Given the description of an element on the screen output the (x, y) to click on. 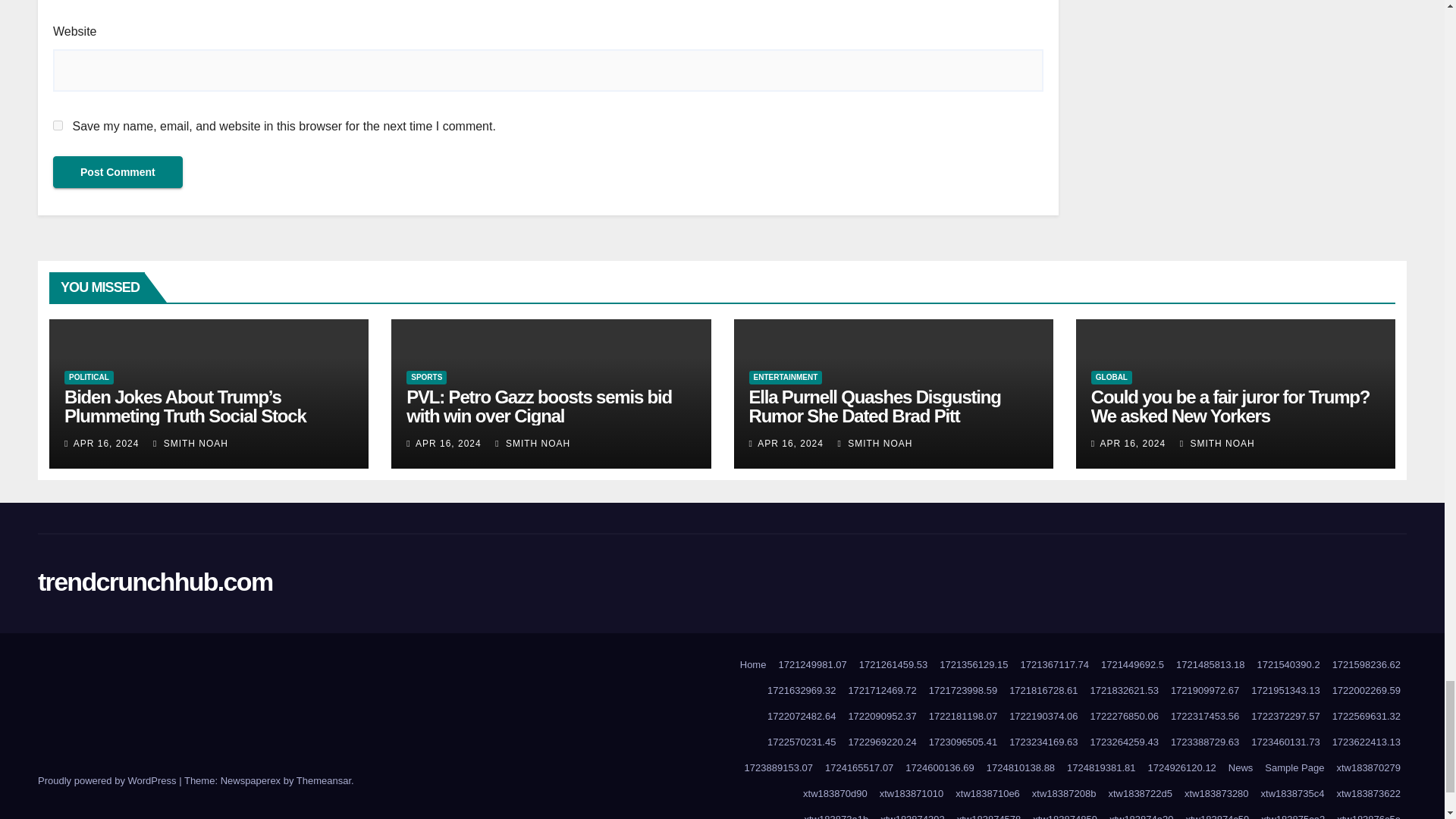
yes (57, 125)
Post Comment (117, 172)
